Given the description of an element on the screen output the (x, y) to click on. 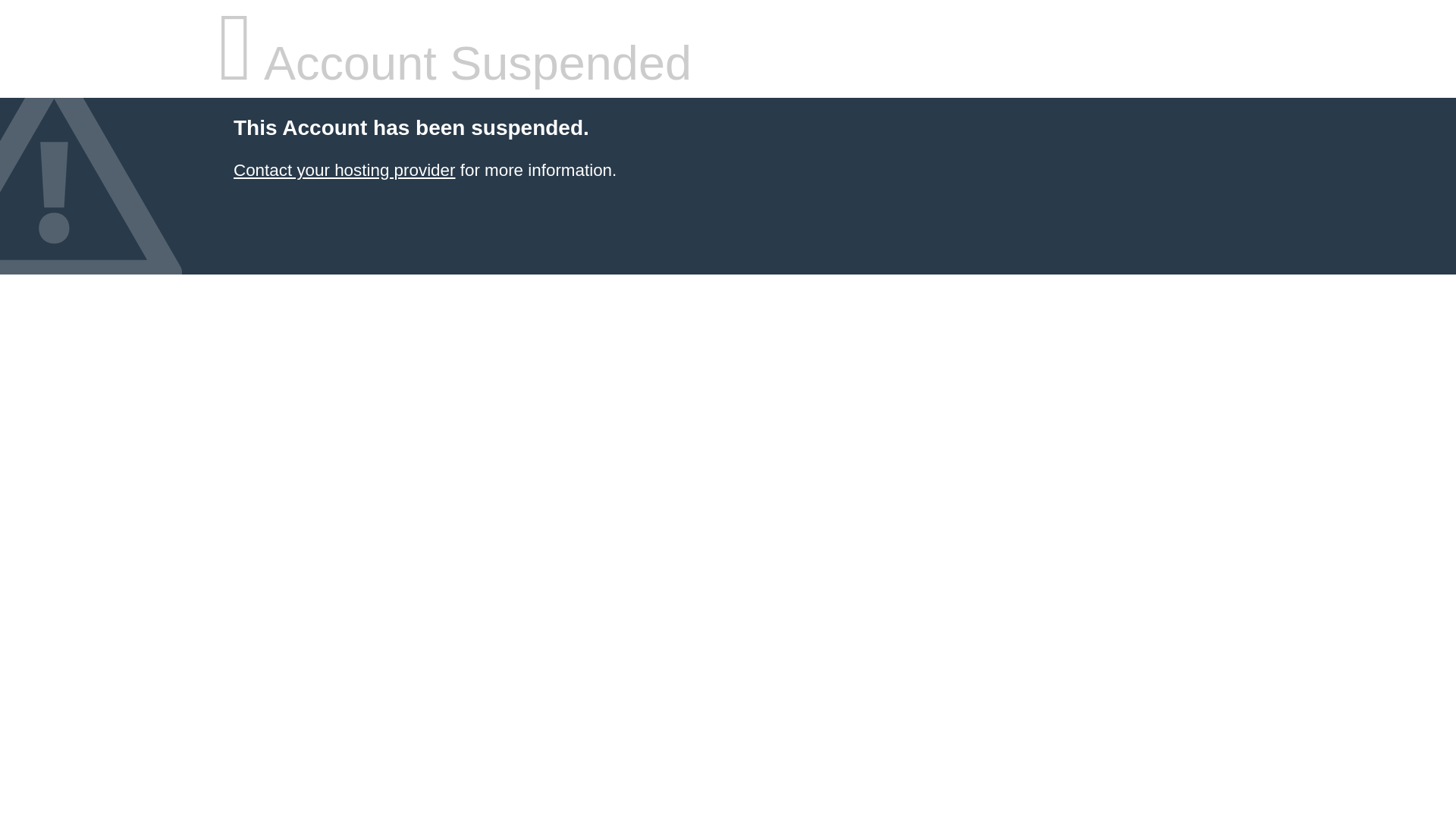
Contact your hosting provider (343, 169)
